Given the description of an element on the screen output the (x, y) to click on. 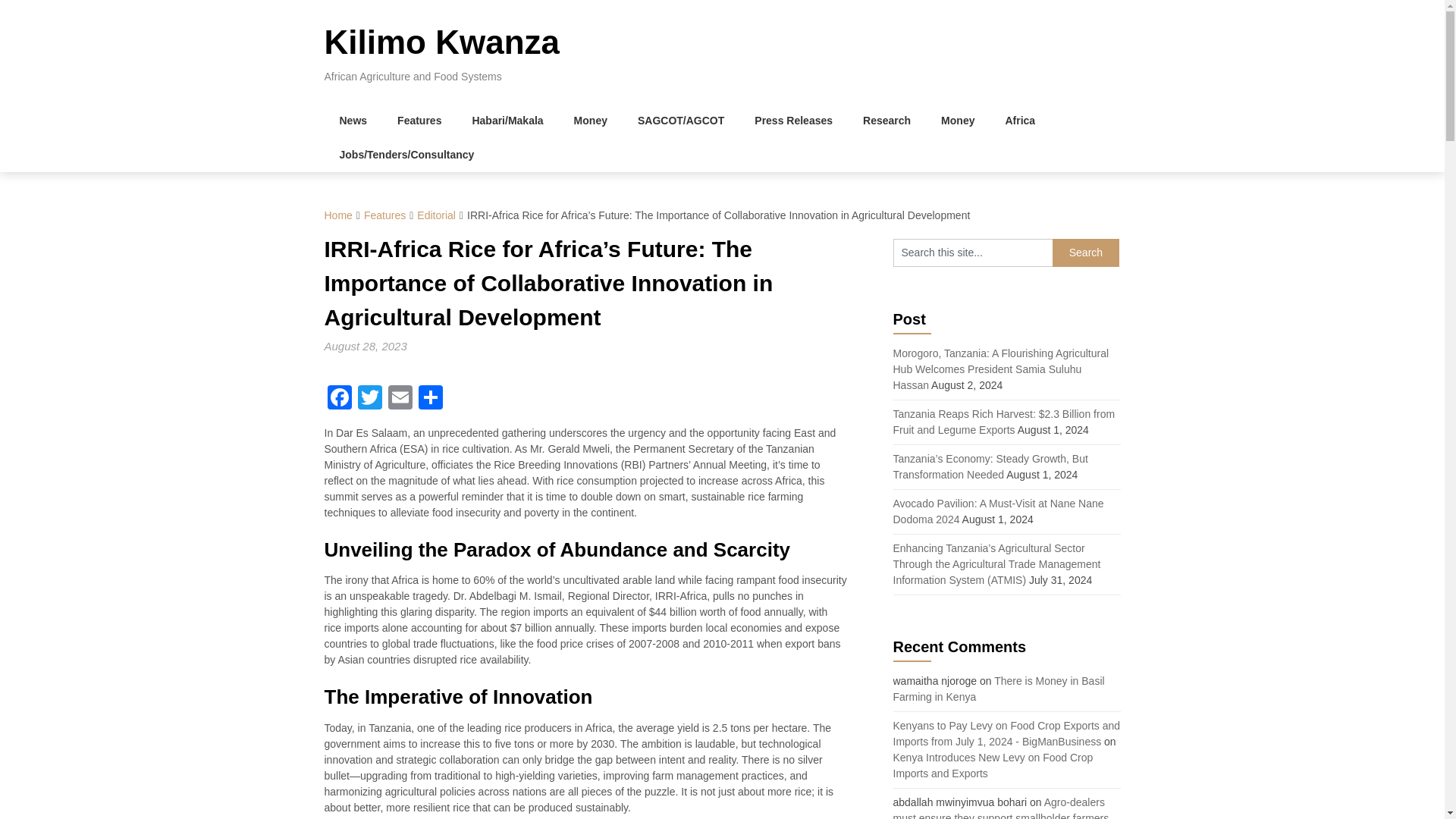
Email (399, 398)
Africa (1019, 121)
Search (1085, 252)
Search (1085, 252)
Email (399, 398)
Features (385, 215)
Money (591, 121)
Editorial (435, 215)
Money (958, 121)
Avocado Pavilion: A Must-Visit at Nane Nane Dodoma 2024 (998, 511)
Facebook (339, 398)
Search this site... (972, 252)
News (353, 121)
